Given the description of an element on the screen output the (x, y) to click on. 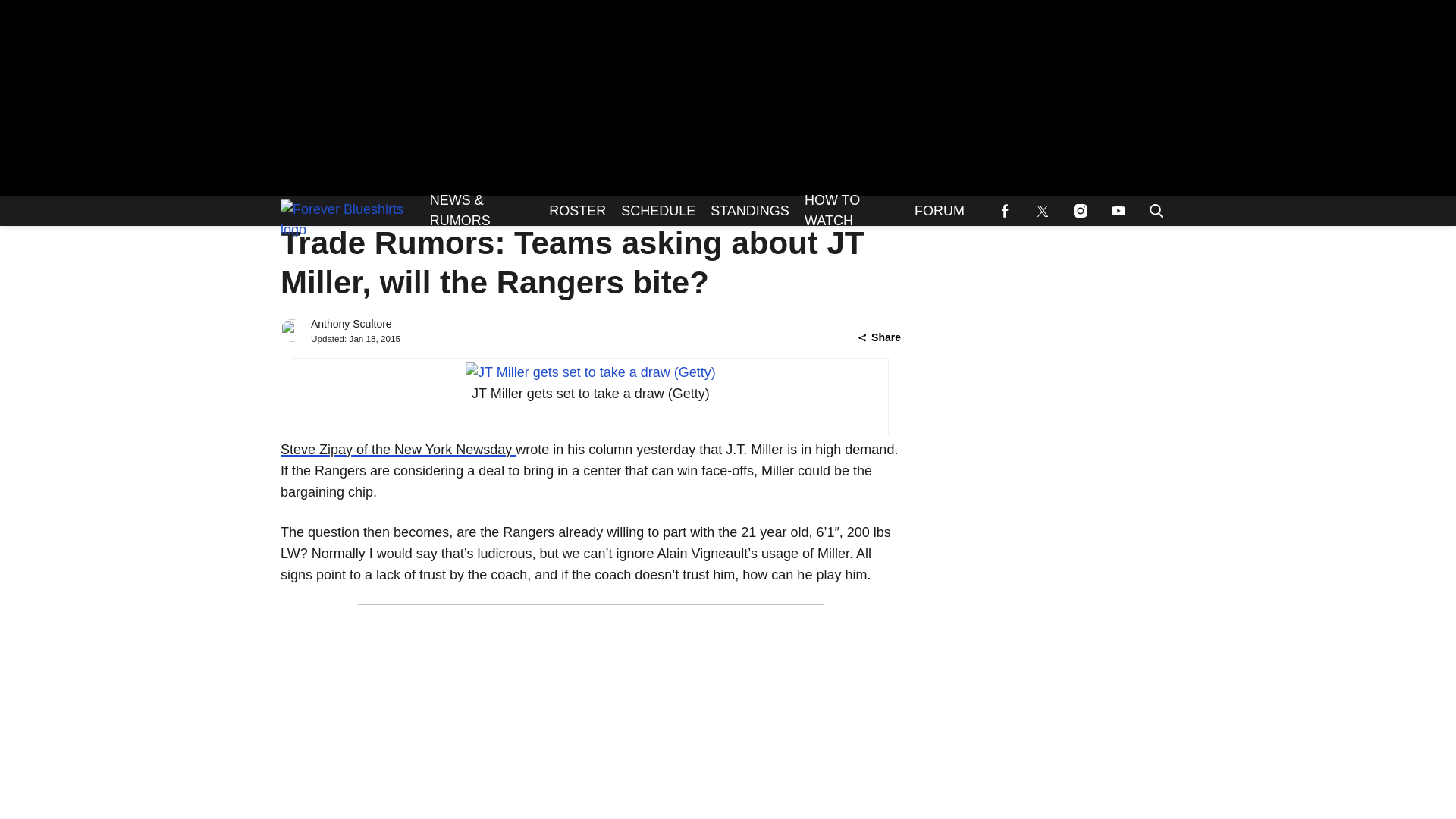
Follow us on Twitter (1042, 210)
Steve Zipay of the New York Newsday (398, 448)
FORUM (939, 210)
Subscribe to our YouTube channel (1118, 210)
Follow us on Instagram (1080, 210)
HOW TO WATCH (851, 210)
STANDINGS (749, 210)
Follow us on Facebook (1004, 210)
Posts by Anthony Scultore (351, 324)
Anthony Scultore (351, 324)
SCHEDULE (657, 210)
ROSTER (576, 210)
